Given the description of an element on the screen output the (x, y) to click on. 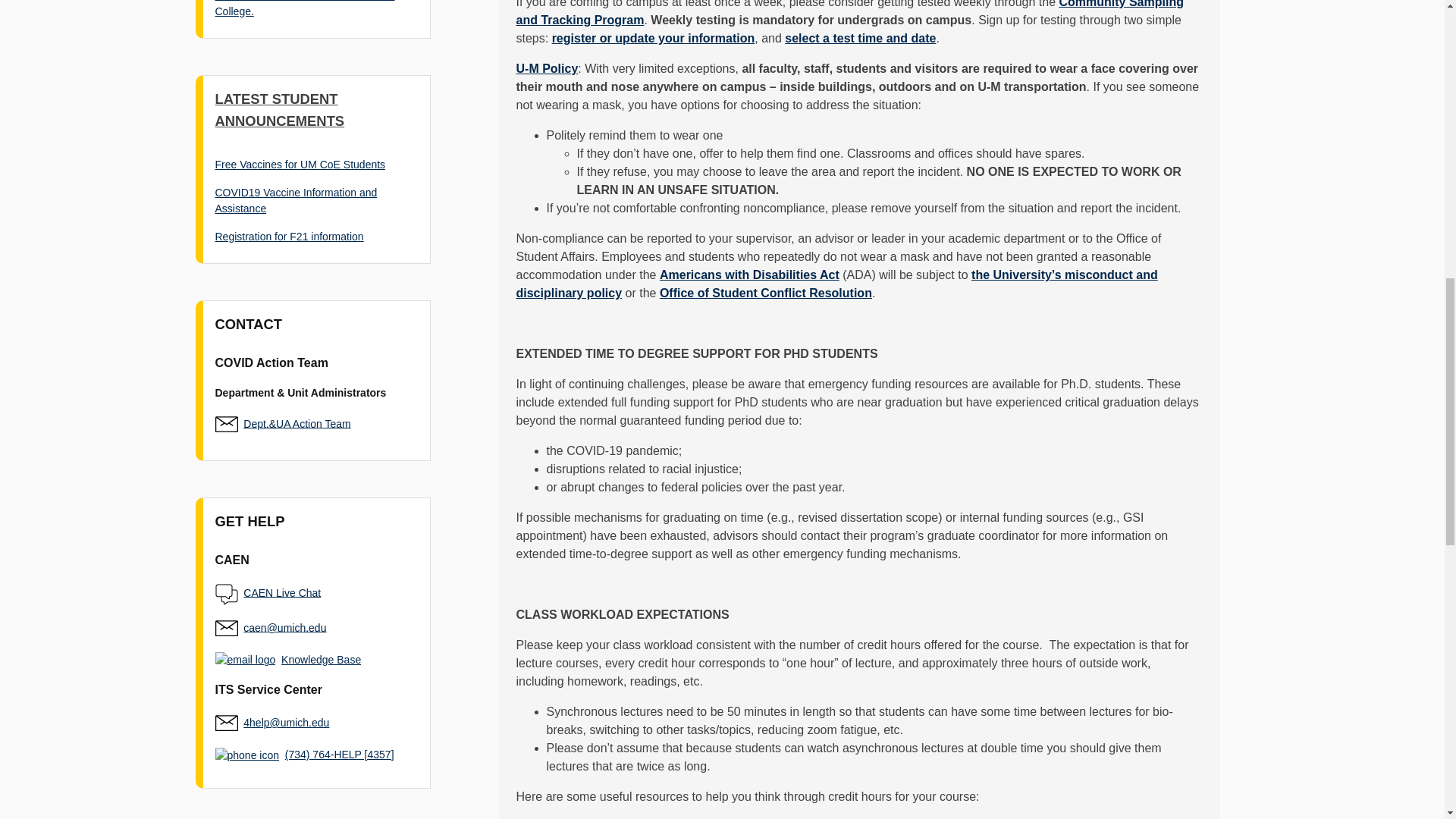
Free Vaccines for UM CoE Students (300, 164)
ENGIN UPDATE: Mcards. State of the College. (304, 8)
COVID19 Vaccine Information and Assistance (296, 200)
LATEST STUDENT ANNOUNCEMENTS (280, 109)
Registration for F21 information (289, 236)
